Given the description of an element on the screen output the (x, y) to click on. 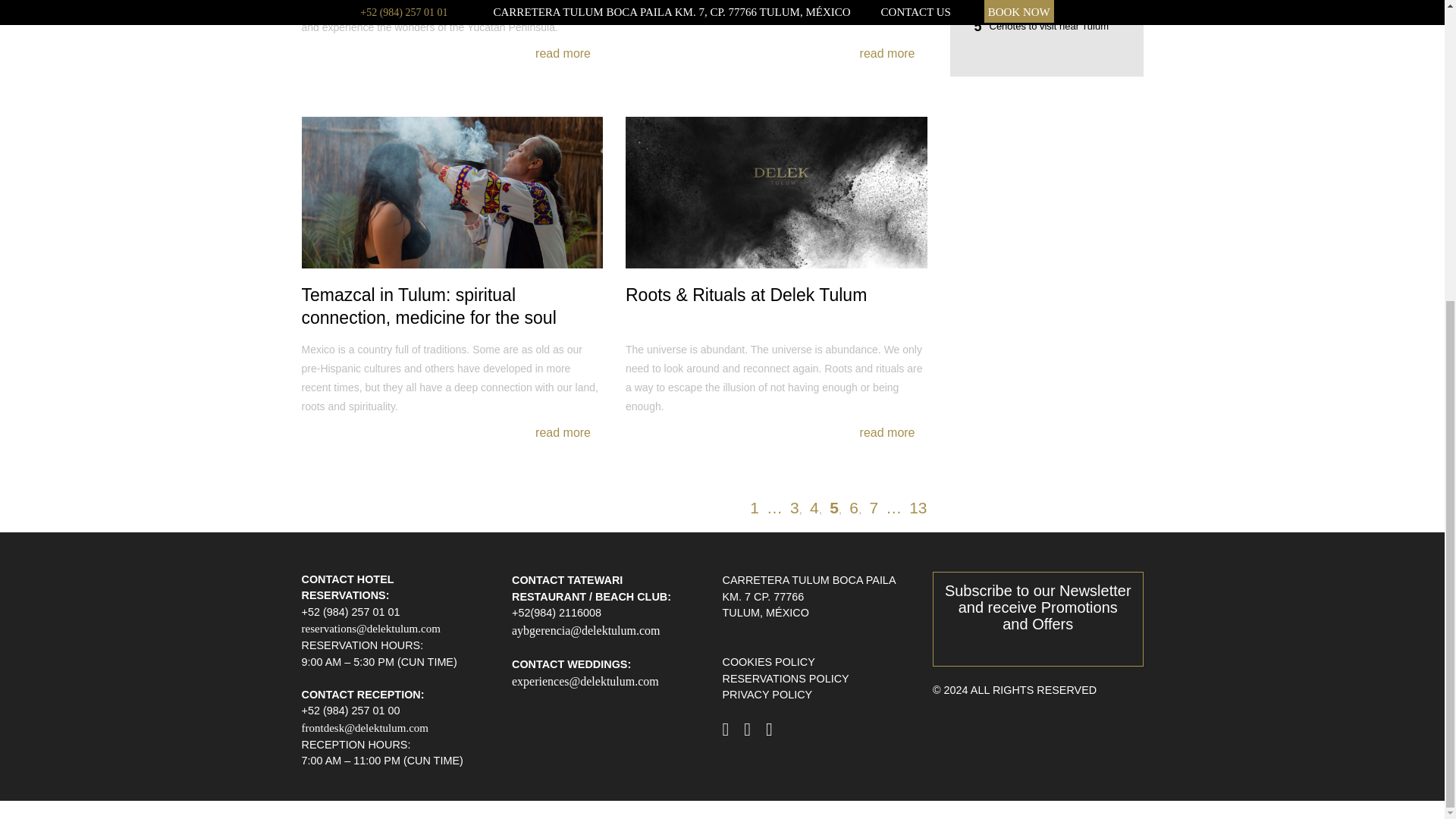
read more (562, 433)
Cenotes to visit near Tulum (1046, 26)
read more (562, 53)
13 (917, 507)
read more (887, 433)
read more (887, 53)
Romantic weekend in Tulum (1046, 3)
